Given the description of an element on the screen output the (x, y) to click on. 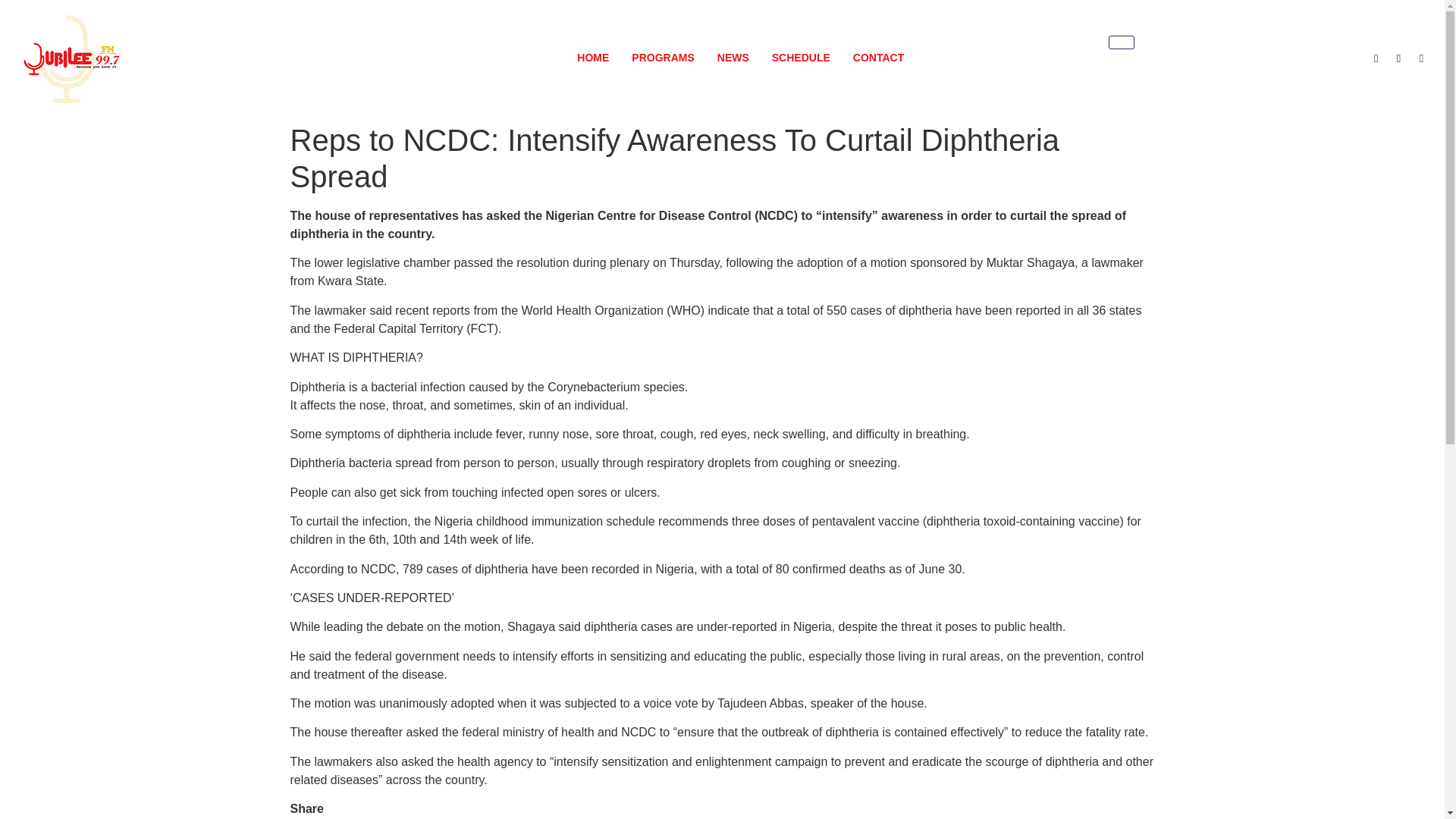
NEWS (733, 57)
PROGRAMS (662, 57)
HOME (593, 57)
SCHEDULE (800, 57)
CONTACT (878, 57)
